Given the description of an element on the screen output the (x, y) to click on. 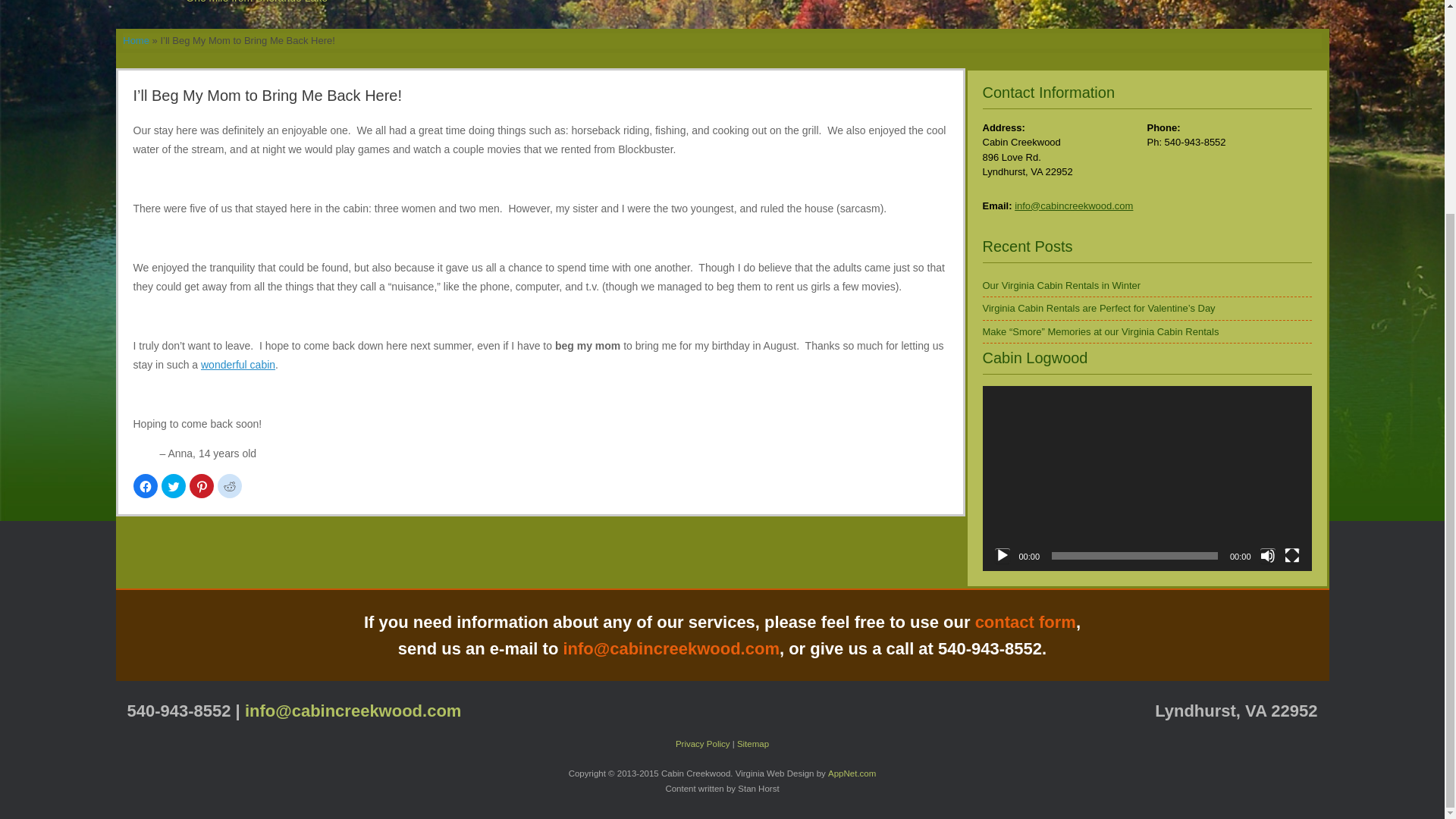
Home (135, 40)
Mute (1267, 555)
Sitemap (752, 743)
Our Virginia Cabin Rentals in Winter (1061, 284)
Click to share on Pinterest (201, 485)
Click to share on Facebook (145, 485)
AppNet.com (852, 773)
Play (1002, 555)
Privacy Policy (702, 743)
Click to share on Reddit (228, 485)
contact form (1025, 621)
Fullscreen (1292, 555)
wonderful cabin (237, 364)
Click to share on Twitter (172, 485)
